Given the description of an element on the screen output the (x, y) to click on. 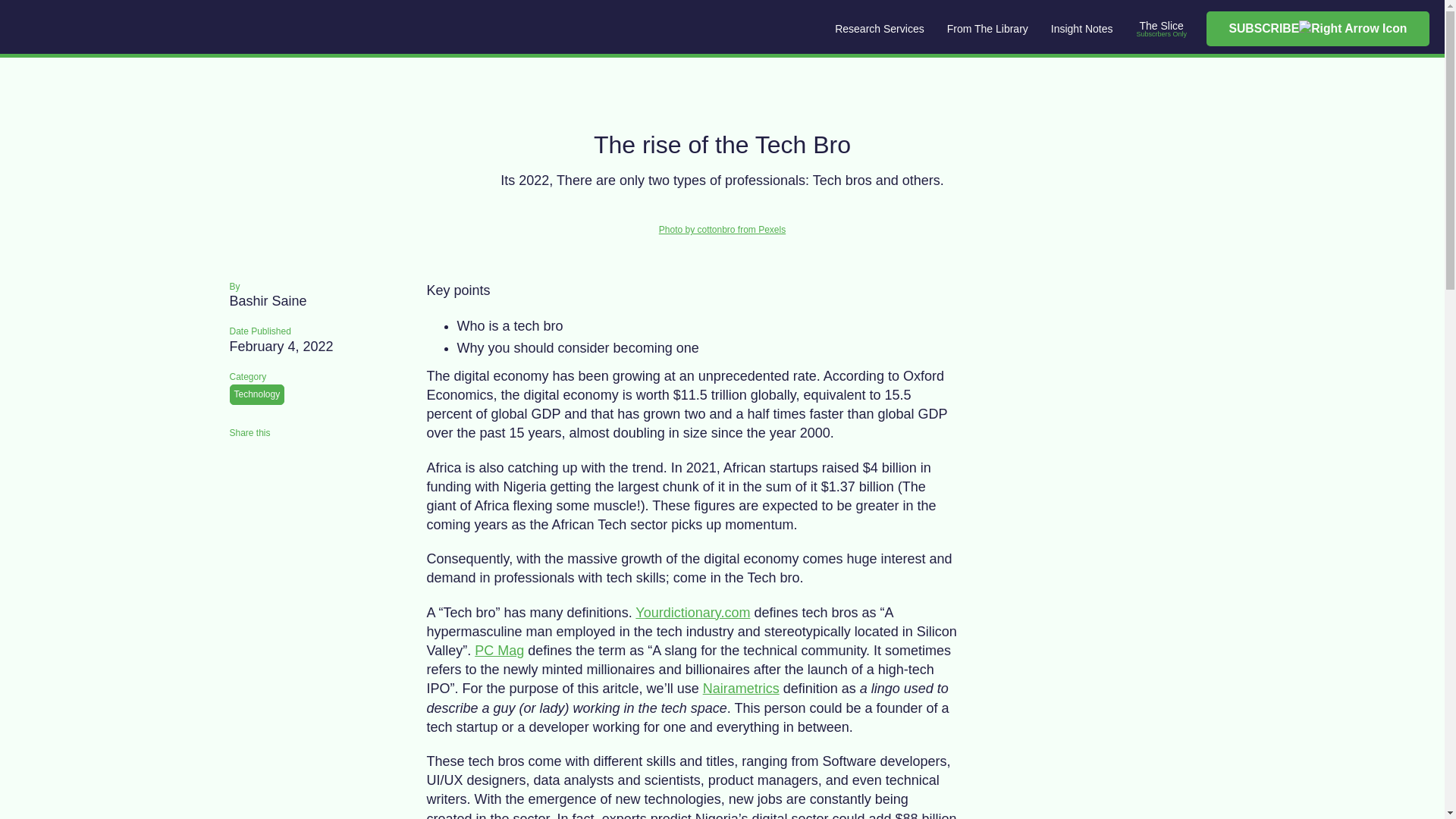
PC Mag (499, 650)
Insight Notes (1081, 28)
Research Services (879, 28)
From The Library (987, 28)
Technology (255, 394)
Yourdictionary.com (691, 612)
Nairametrics (740, 688)
The Slice (1161, 24)
Photo by cottonbro from Pexels (722, 233)
SUBSCRIBE (1318, 28)
